Given the description of an element on the screen output the (x, y) to click on. 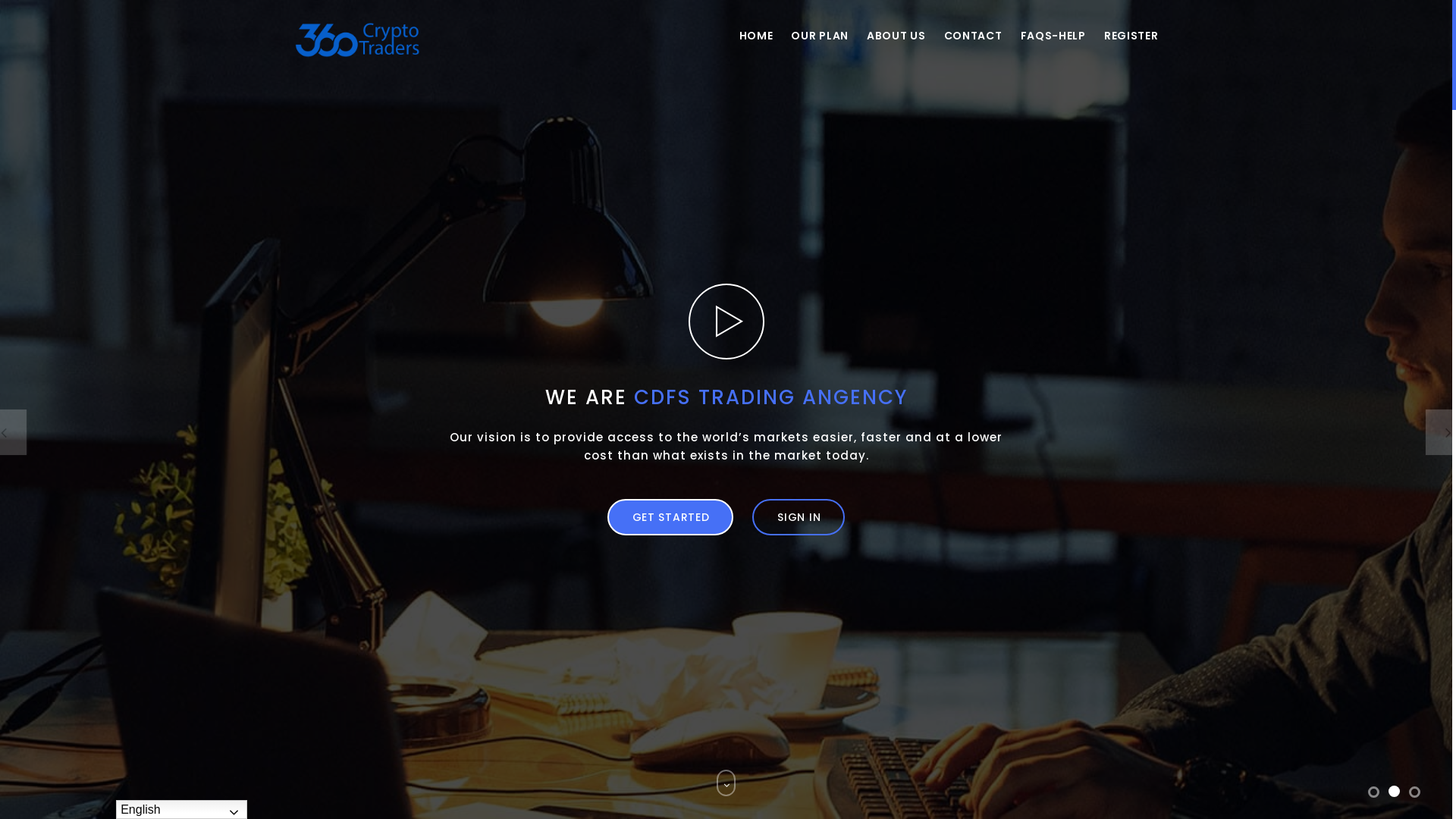
CONTACT Element type: text (973, 35)
3 Element type: text (1414, 791)
FAQS-HELP Element type: text (1053, 35)
OUR PLAN Element type: text (819, 35)
HOME Element type: text (756, 35)
1 Element type: text (1373, 791)
2 Element type: text (1393, 791)
ABOUT US Element type: text (896, 35)
SIGN IN Element type: text (798, 516)
REGISTER Element type: text (1126, 35)
GET STARTED Element type: text (670, 516)
